Given the description of an element on the screen output the (x, y) to click on. 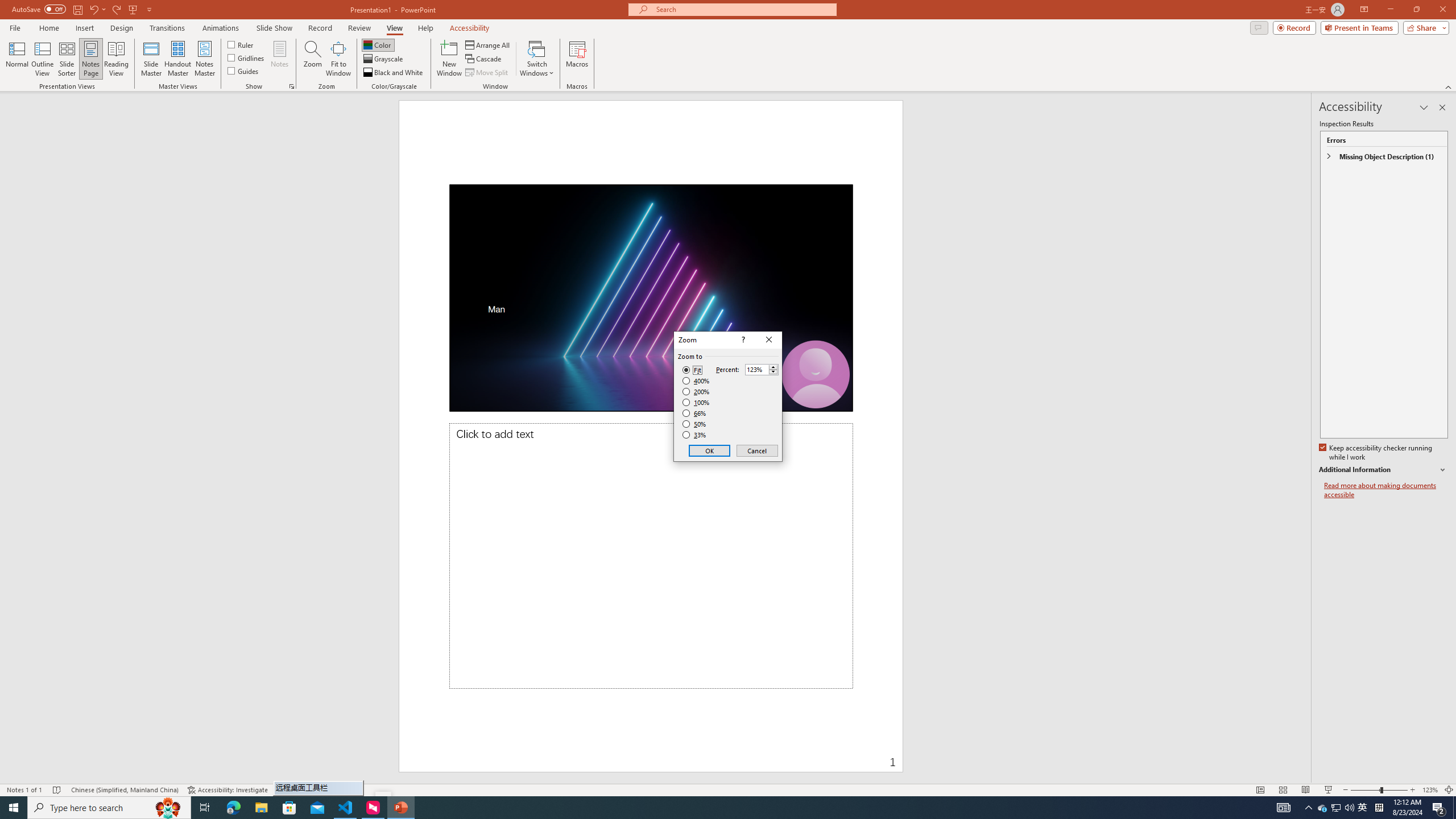
100% (696, 402)
Notes Page (90, 58)
Grid Settings... (291, 85)
Fit (691, 370)
